Given the description of an element on the screen output the (x, y) to click on. 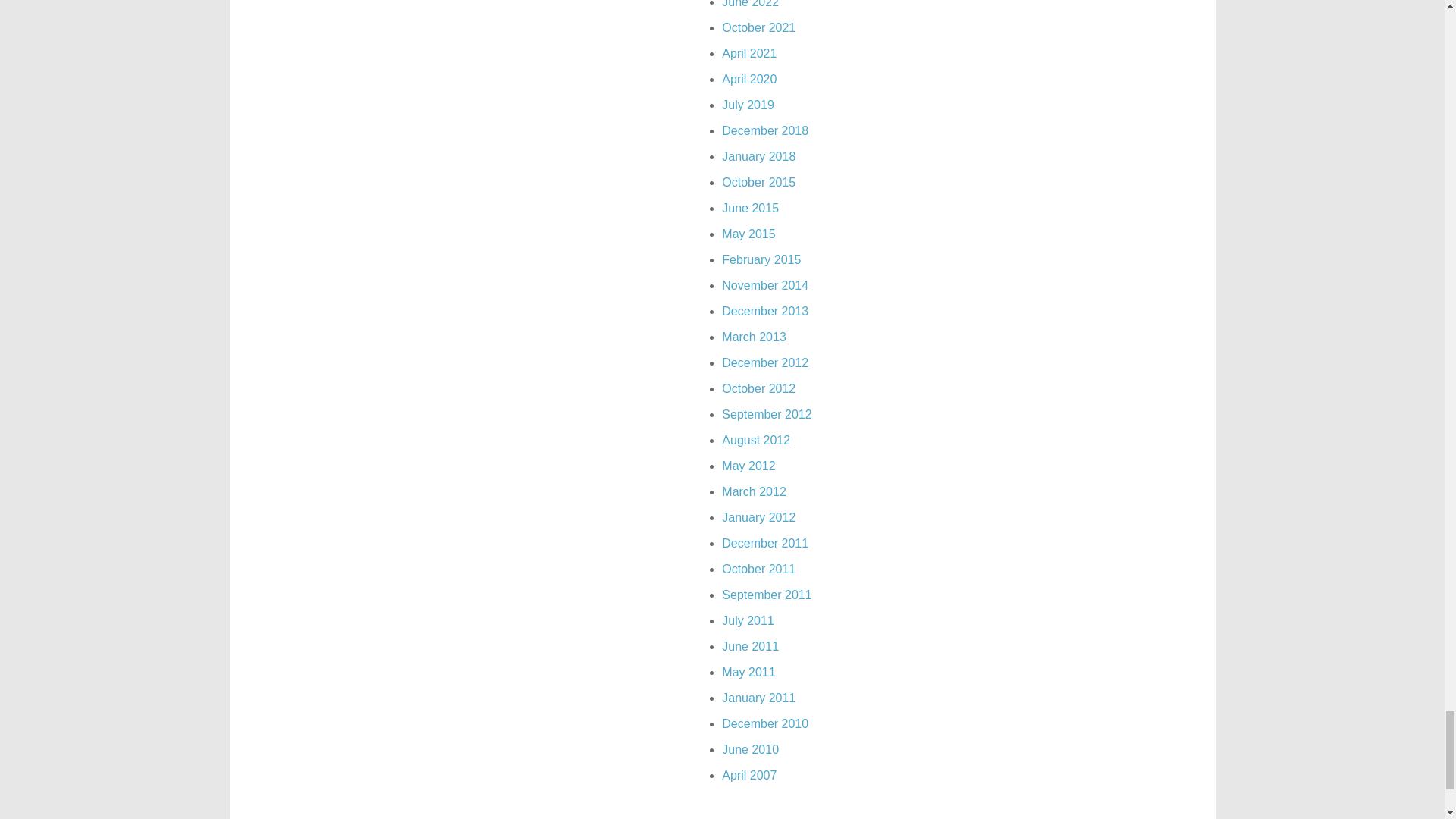
April 2020 (749, 78)
March 2013 (754, 336)
May 2012 (748, 465)
July 2011 (748, 620)
September 2011 (766, 594)
March 2012 (754, 491)
December 2011 (765, 543)
October 2011 (758, 568)
February 2015 (761, 259)
June 2022 (750, 4)
January 2012 (758, 517)
January 2018 (758, 155)
December 2013 (765, 310)
September 2012 (766, 413)
August 2012 (756, 440)
